Given the description of an element on the screen output the (x, y) to click on. 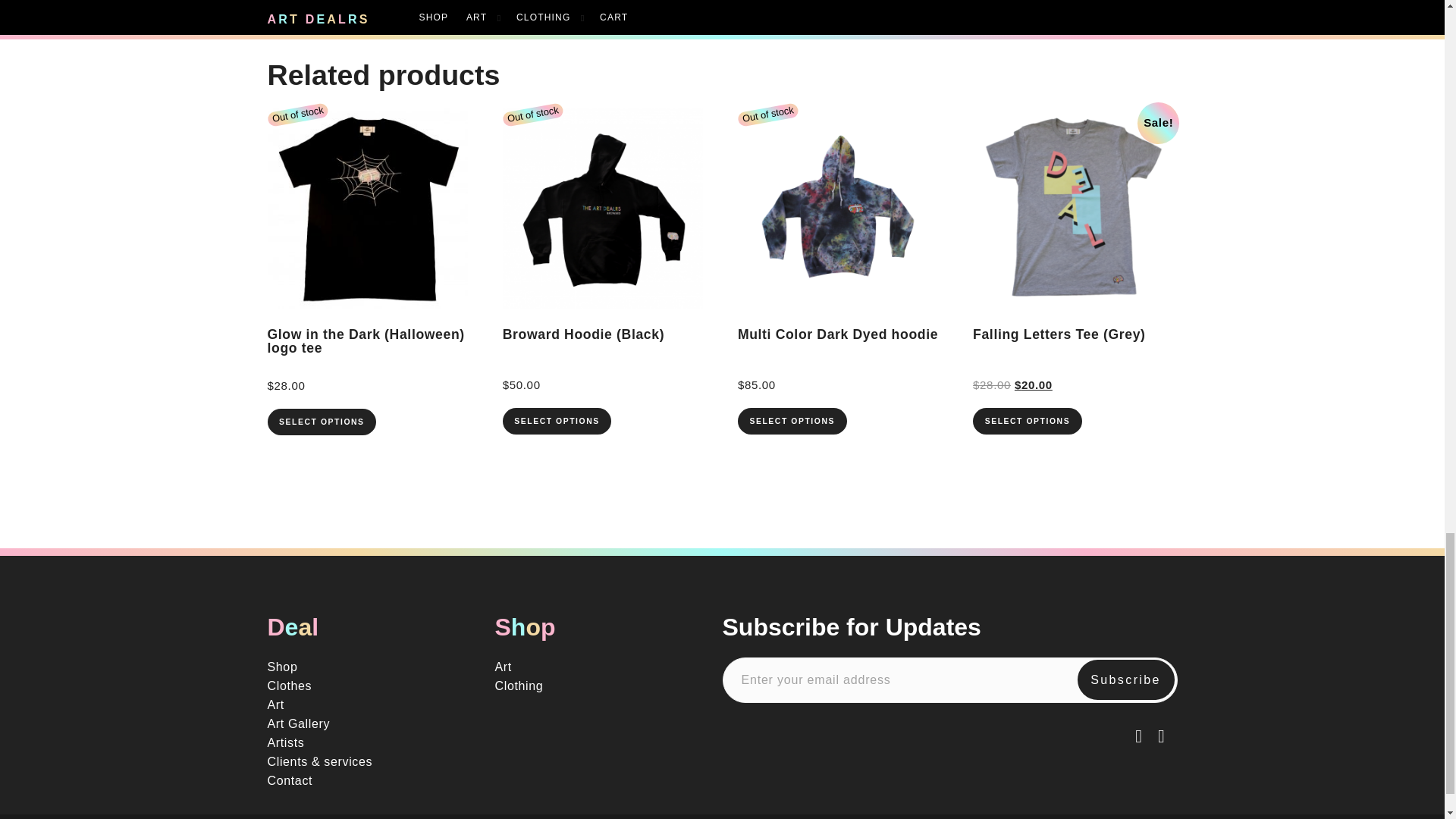
SELECT OPTIONS (556, 420)
SELECT OPTIONS (792, 420)
Subscribe (1125, 680)
SELECT OPTIONS (320, 421)
